Given the description of an element on the screen output the (x, y) to click on. 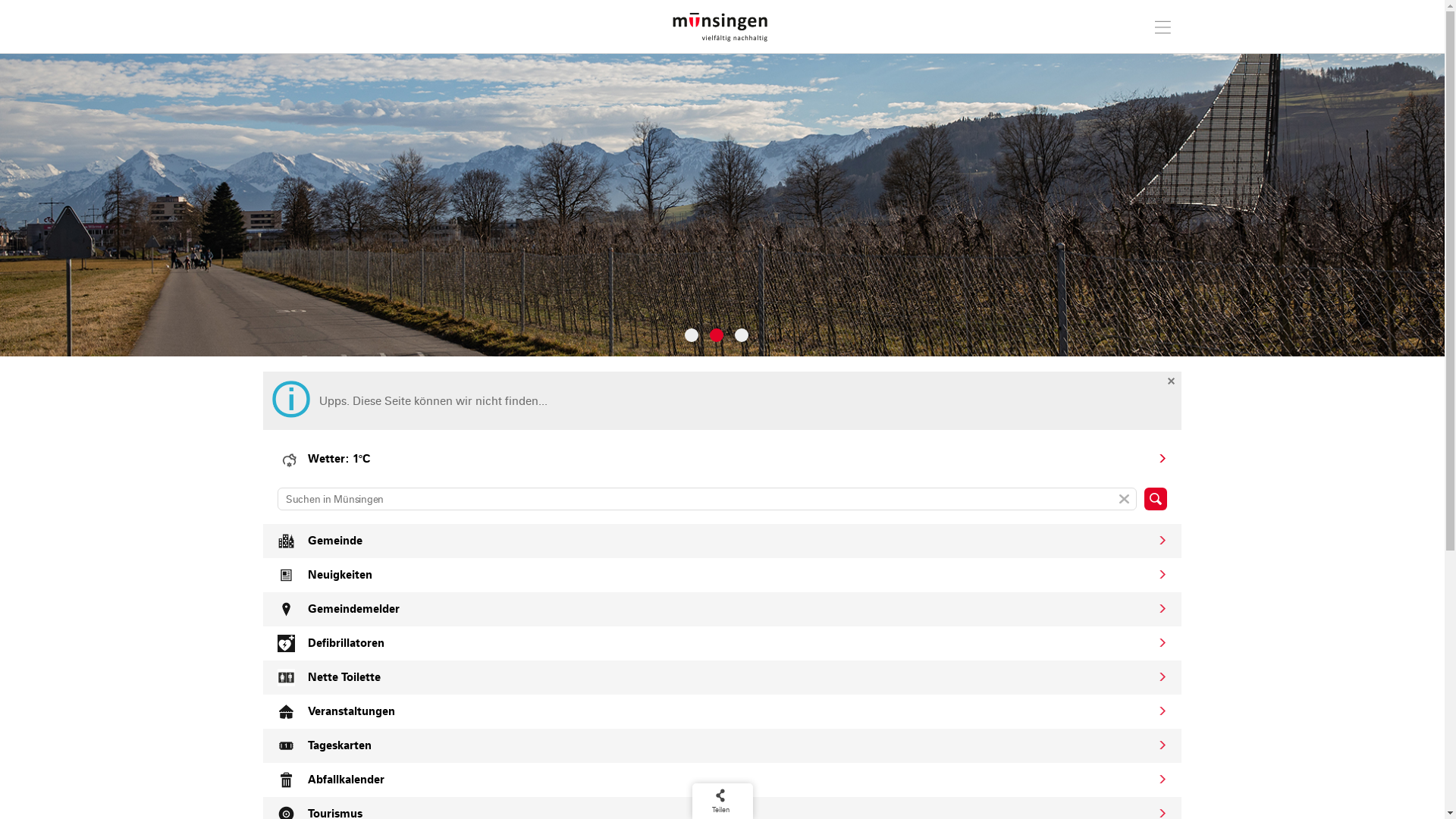
Gemeinde Element type: text (722, 541)
Teilen Element type: text (719, 800)
Navigation anzeigen Element type: hover (1162, 24)
Neuigkeiten Element type: text (722, 575)
Nette Toilette Element type: text (722, 677)
Abfallkalender Element type: text (722, 779)
3 Element type: text (741, 334)
1 Element type: text (691, 334)
Tageskarten Element type: text (722, 745)
Gemeindemelder Element type: text (722, 609)
Veranstaltungen Element type: text (722, 711)
2 Element type: text (716, 334)
Defibrillatoren Element type: text (722, 643)
